Given the description of an element on the screen output the (x, y) to click on. 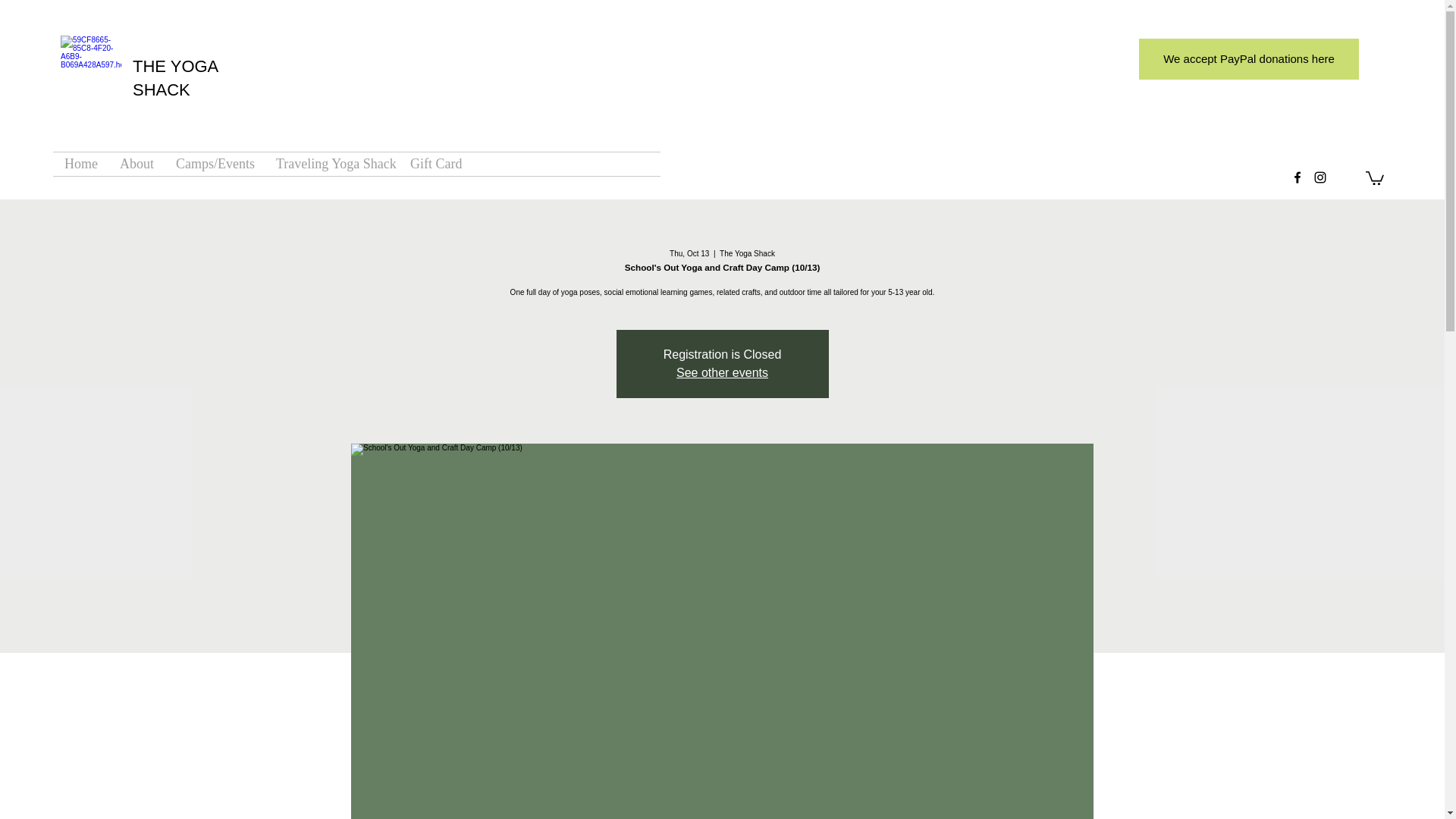
See other events (722, 372)
We accept PayPal donations here (1248, 58)
Home (79, 164)
Traveling Yoga Shack (331, 164)
THE YOGA SHACK (174, 77)
About (135, 164)
Gift Card (434, 164)
